Given the description of an element on the screen output the (x, y) to click on. 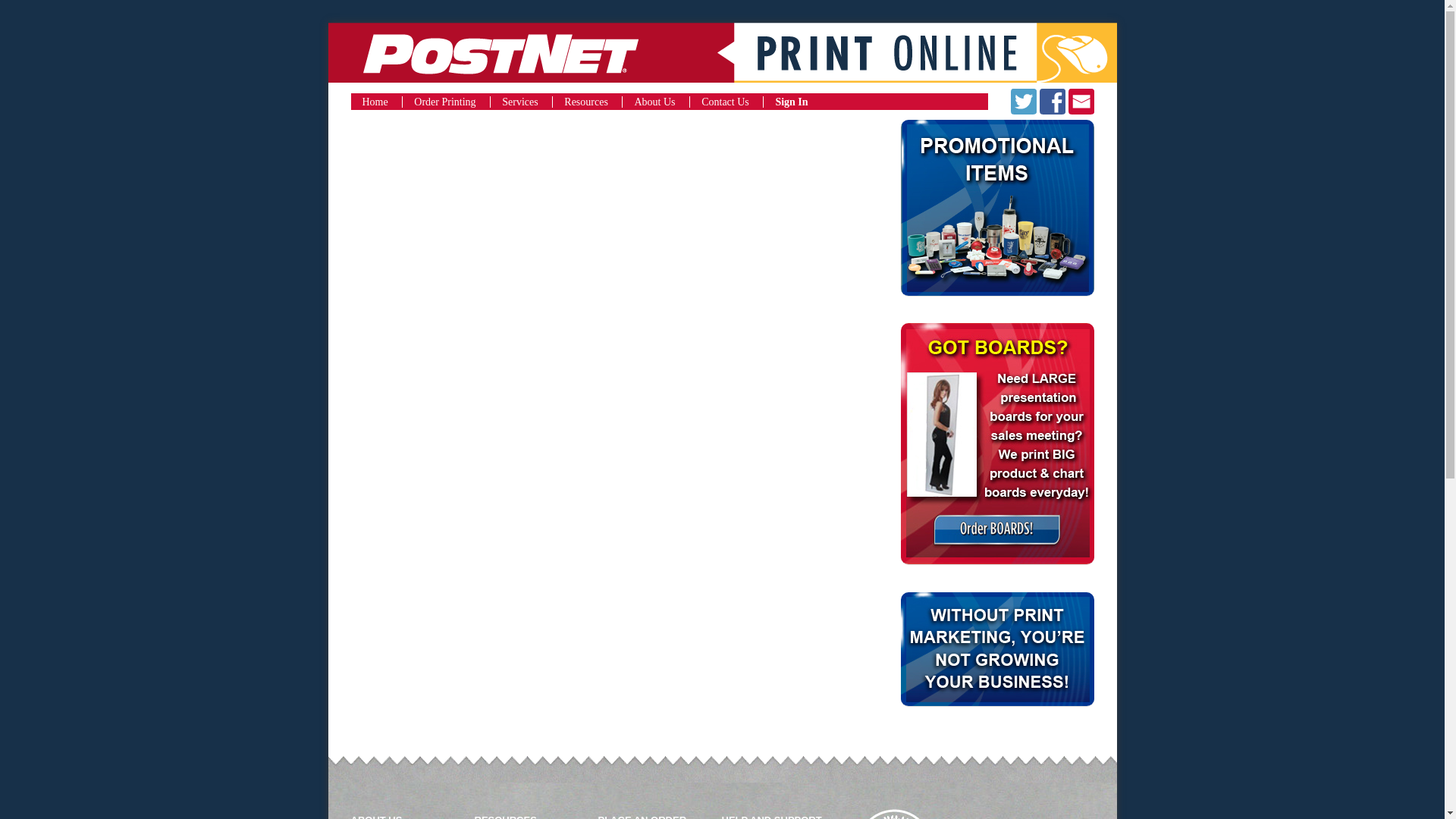
Home (375, 101)
Resources (579, 101)
Services (513, 101)
Like on Facebook (1052, 100)
Promotional Items (997, 315)
Home (721, 54)
We print large presentation boards (997, 583)
Email Us (1080, 100)
Contact Us (718, 101)
Follow on Twitter (1023, 100)
Order Printing (438, 101)
Sign In (785, 101)
About Us (648, 101)
